Given the description of an element on the screen output the (x, y) to click on. 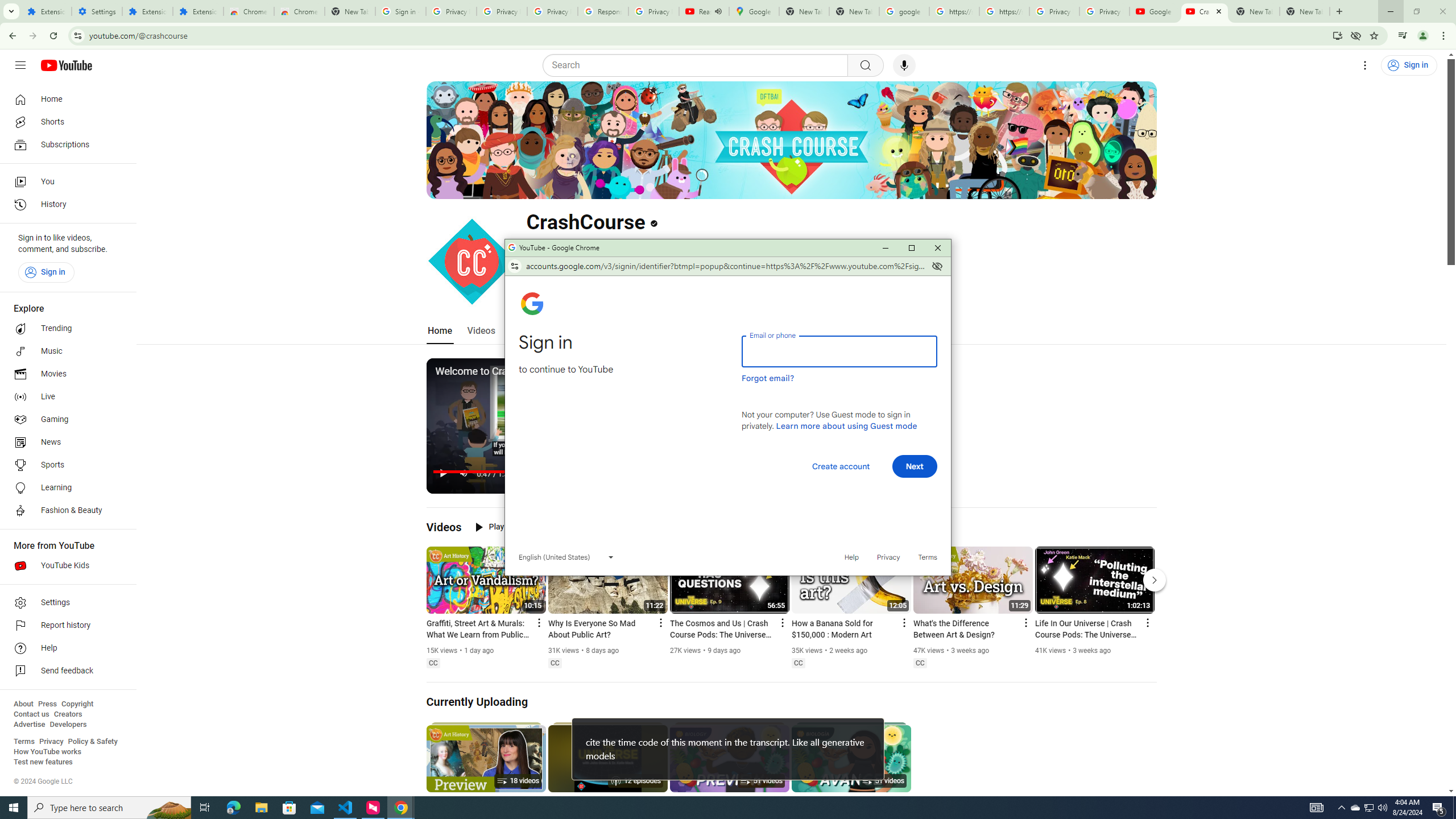
Learn more about using Guest mode (846, 425)
Microsoft Store (289, 807)
Advertise (29, 724)
Press (46, 703)
Create account (840, 466)
https://scholar.google.com/ (954, 11)
News (64, 441)
Email or phone (839, 351)
Sports (64, 464)
